Given the description of an element on the screen output the (x, y) to click on. 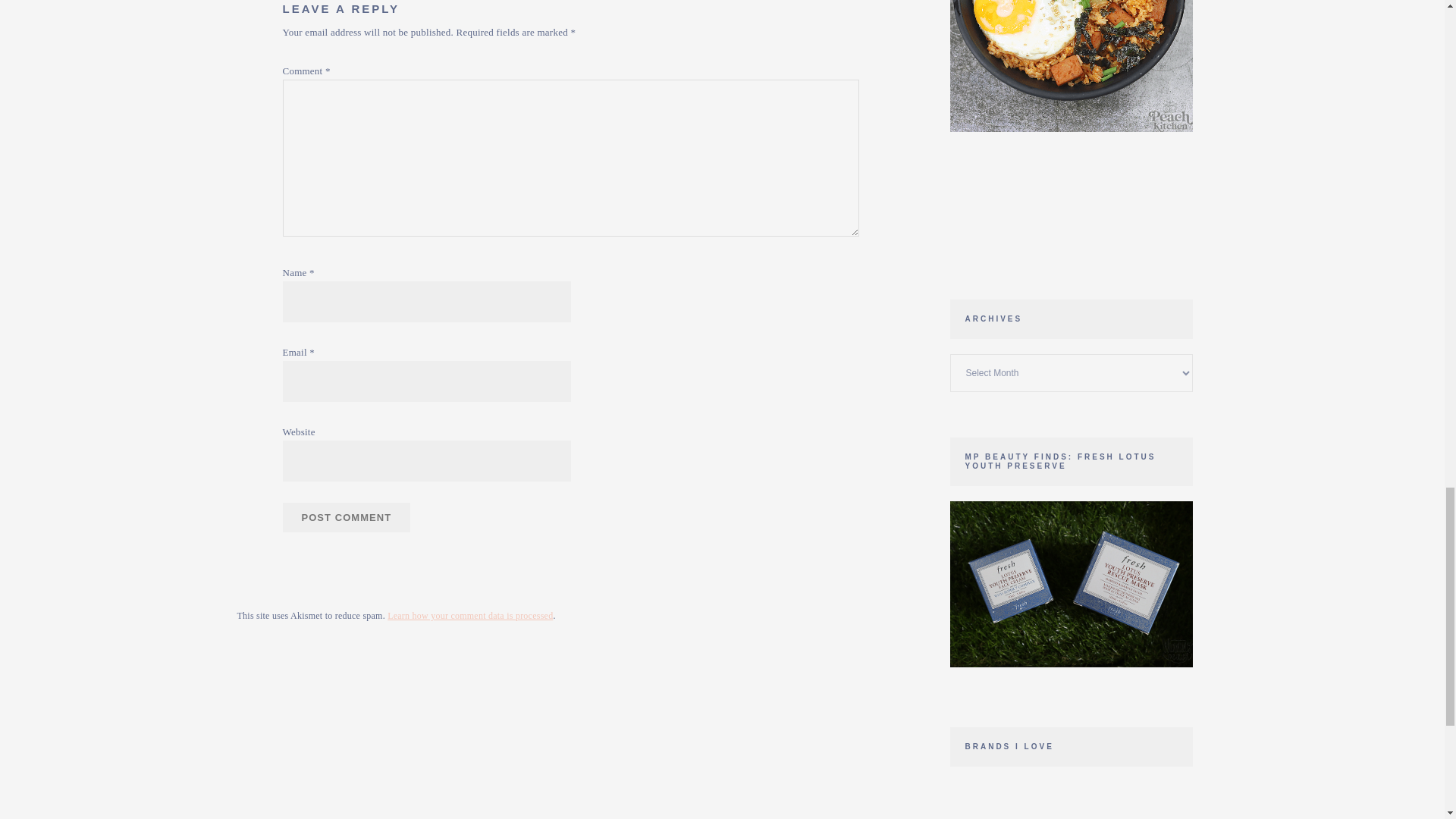
Learn how your comment data is processed (470, 615)
Post Comment (346, 517)
Post Comment (346, 517)
